Given the description of an element on the screen output the (x, y) to click on. 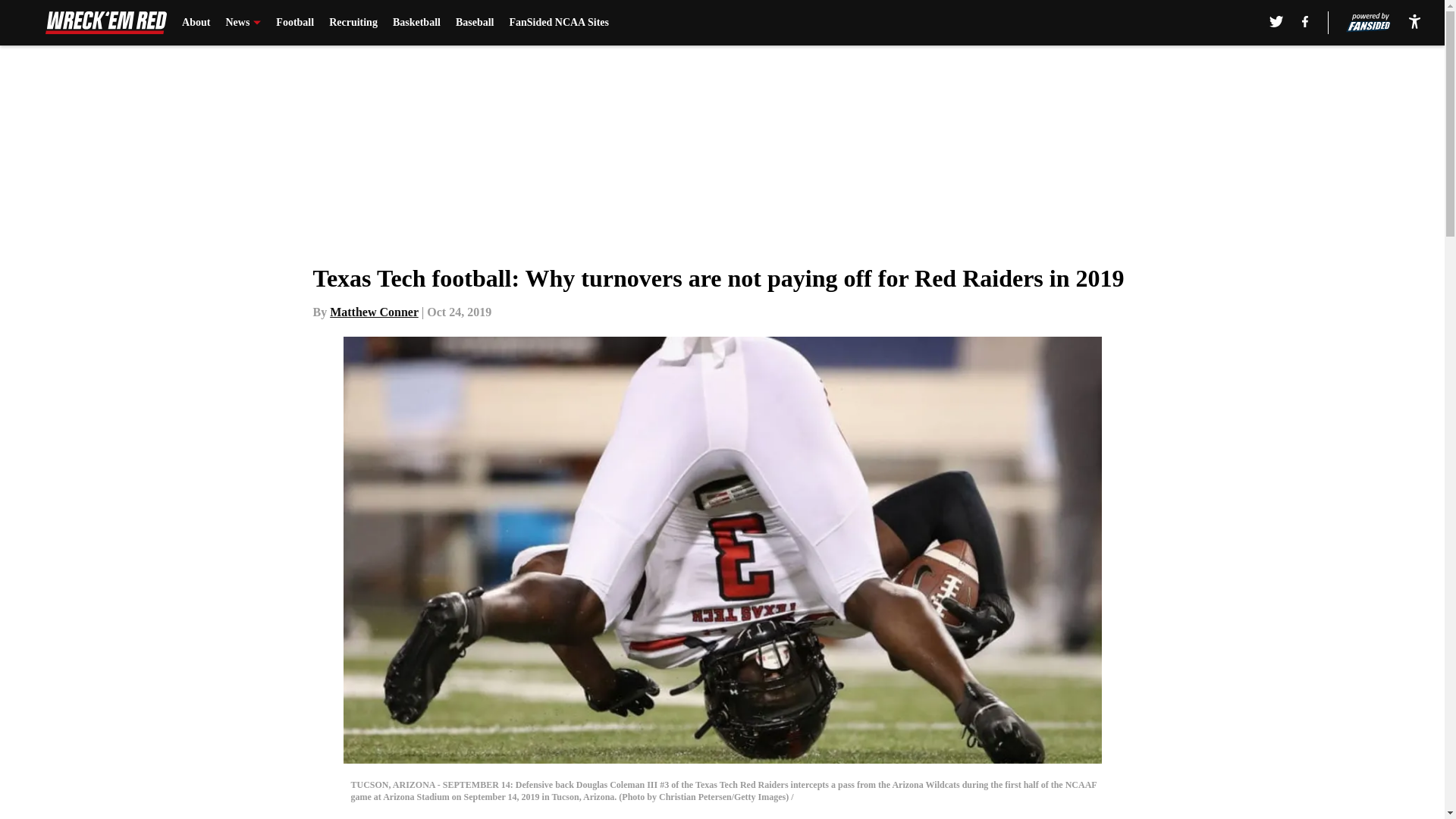
Matthew Conner (374, 311)
About (195, 22)
Basketball (417, 22)
Baseball (475, 22)
Recruiting (353, 22)
FanSided NCAA Sites (558, 22)
Football (295, 22)
